Given the description of an element on the screen output the (x, y) to click on. 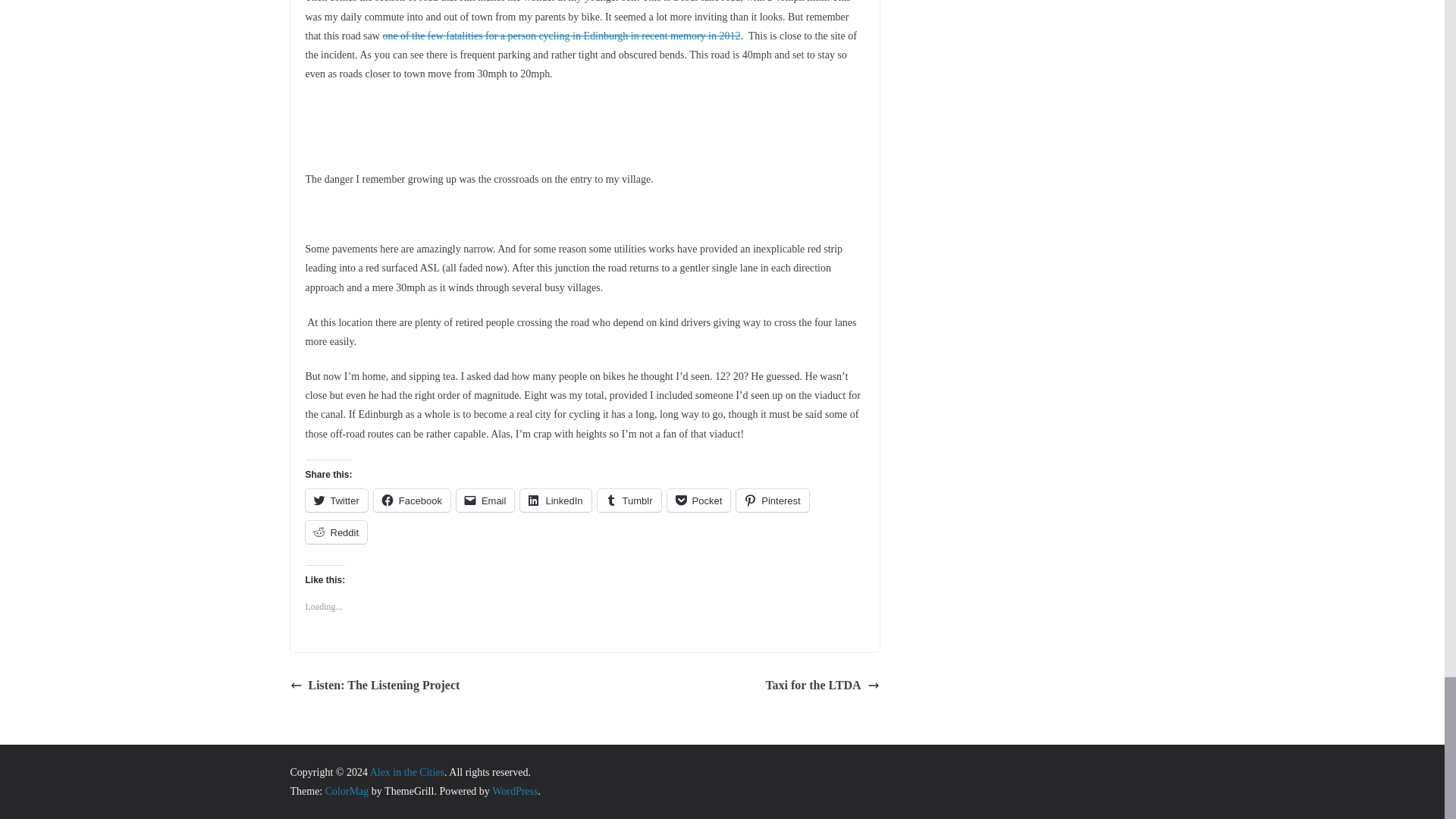
Click to email a link to a friend (486, 499)
Click to share on Reddit (335, 531)
Click to share on Twitter (335, 499)
Click to share on LinkedIn (555, 499)
WordPress (514, 790)
Click to share on Pocket (698, 499)
Click to share on Tumblr (628, 499)
Alex in the Cities (406, 772)
Click to share on Pinterest (772, 499)
